Given the description of an element on the screen output the (x, y) to click on. 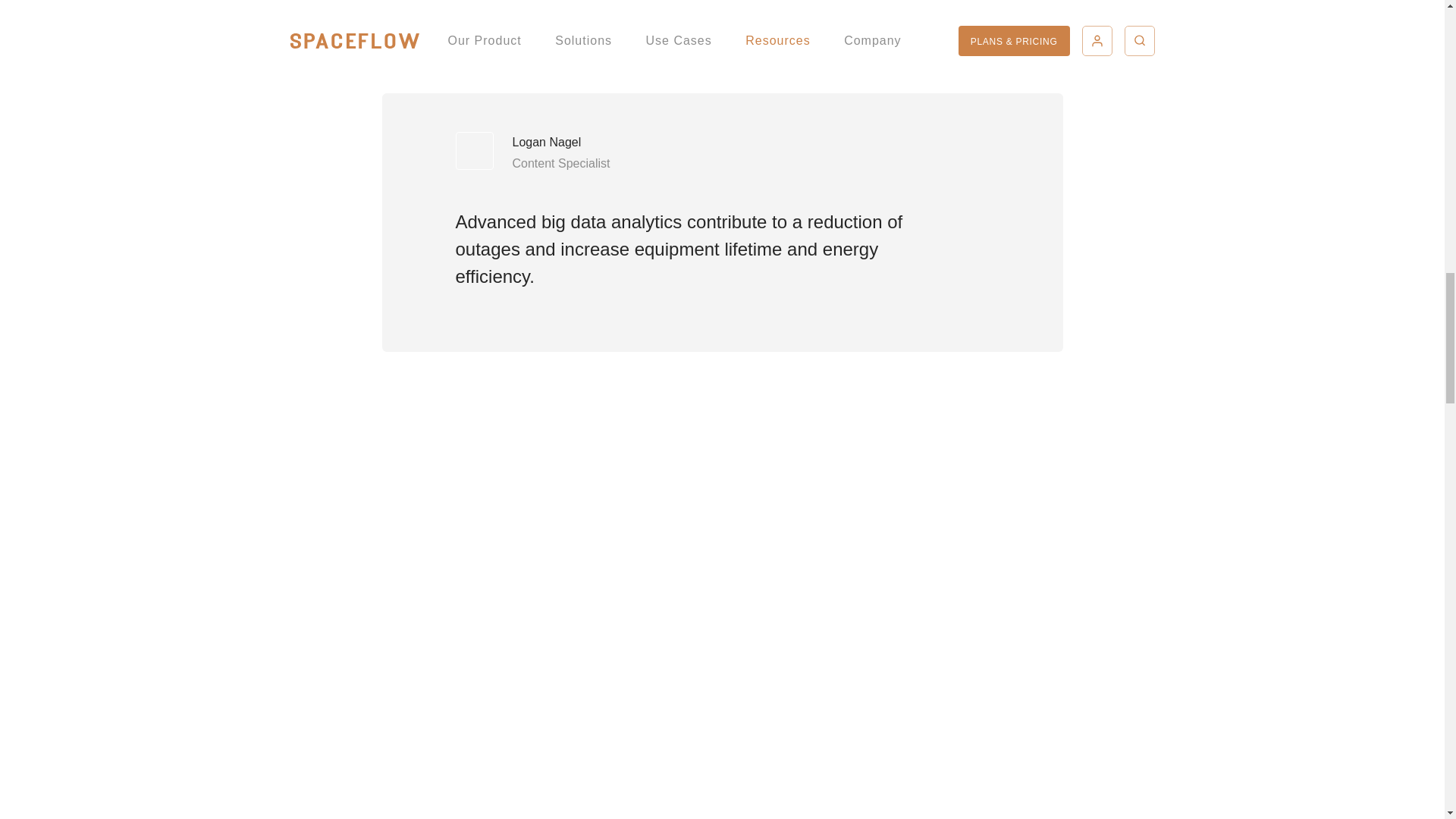
property health and sustainability certifications, (719, 34)
